Given the description of an element on the screen output the (x, y) to click on. 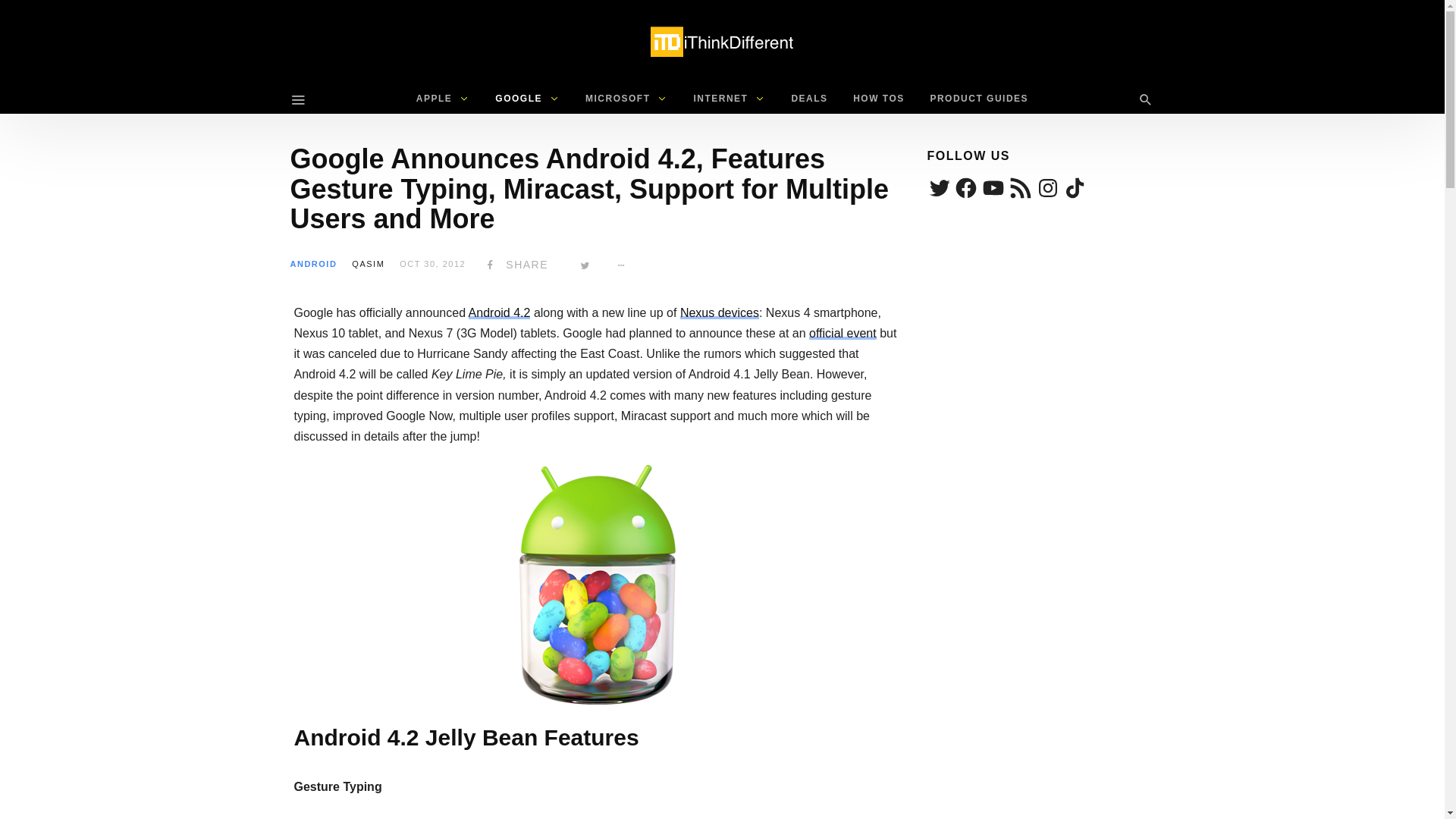
ANDROID (312, 263)
GOOGLE (526, 98)
APPLE (442, 98)
PRODUCT GUIDES (978, 98)
Share on Facebook (514, 264)
More (622, 264)
View all posts in Android (312, 263)
MICROSOFT (626, 98)
INTERNET (728, 98)
Posts by Qasim (368, 263)
DEALS (808, 98)
Share on Twitter (584, 264)
HOW TOS (878, 98)
QASIM (368, 263)
SHARE (514, 264)
